Given the description of an element on the screen output the (x, y) to click on. 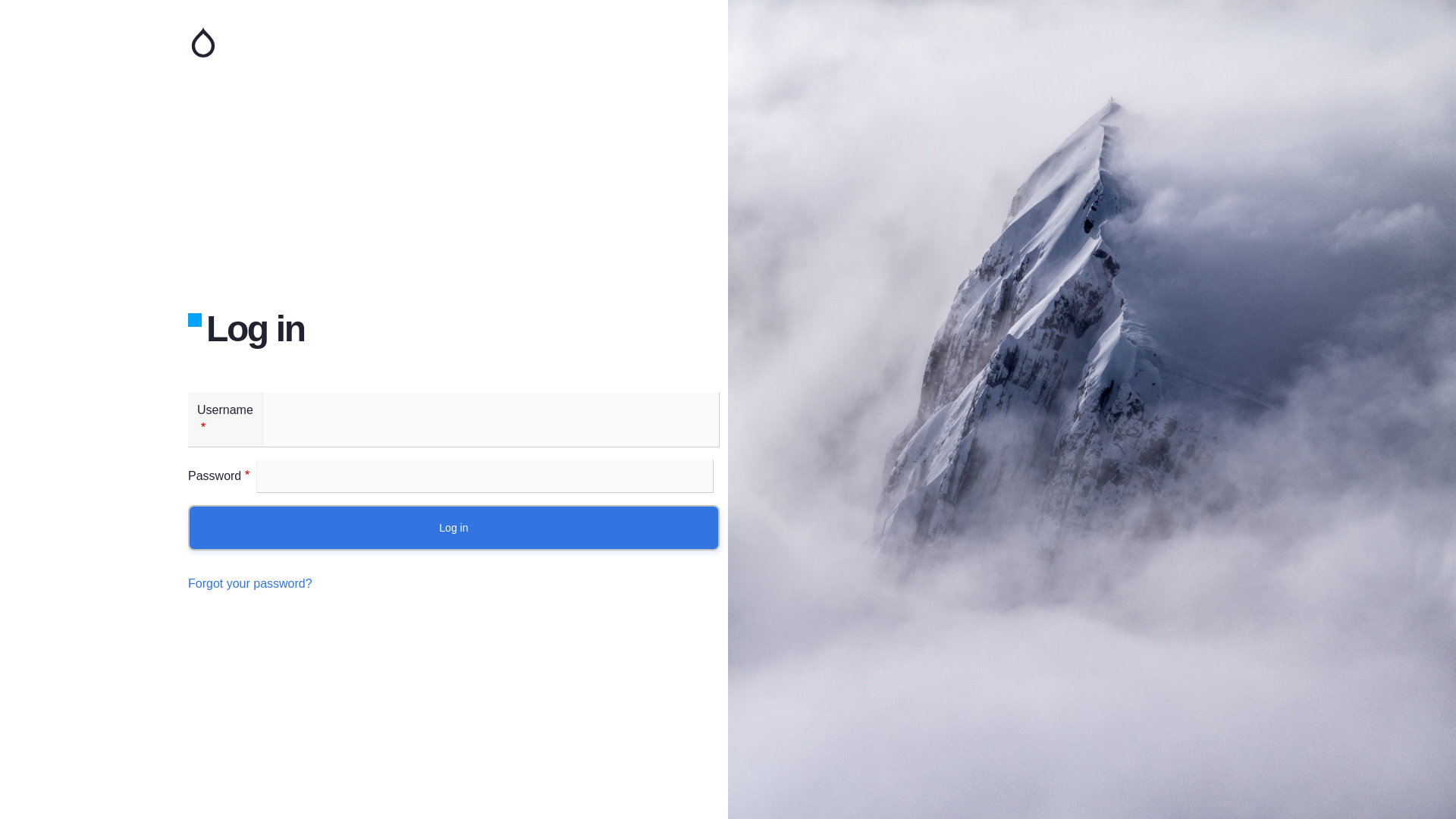
Home (363, 42)
Log in (453, 527)
Forgot your password? (250, 583)
Log in (453, 527)
